Given the description of an element on the screen output the (x, y) to click on. 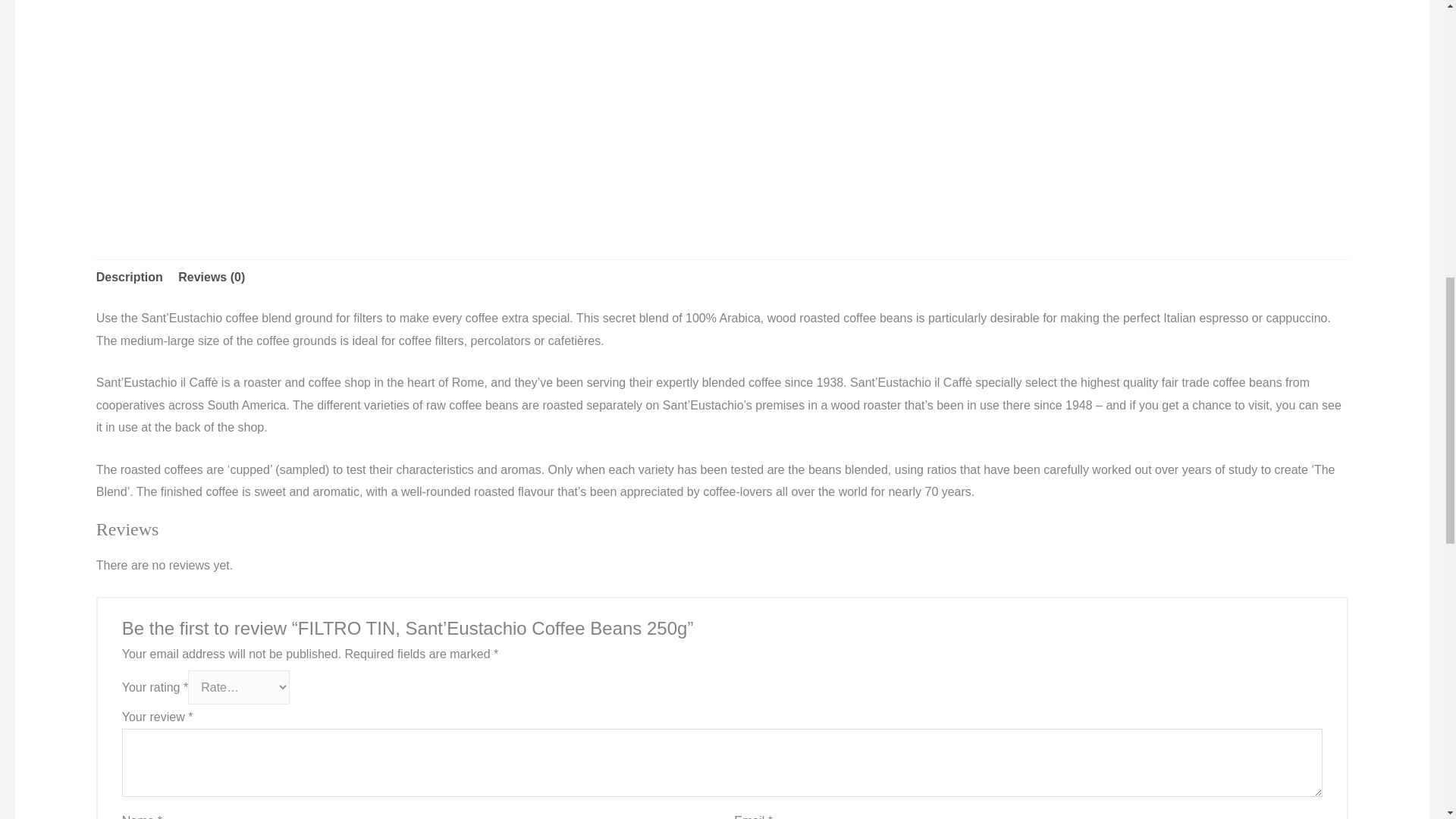
Description (129, 277)
